Given the description of an element on the screen output the (x, y) to click on. 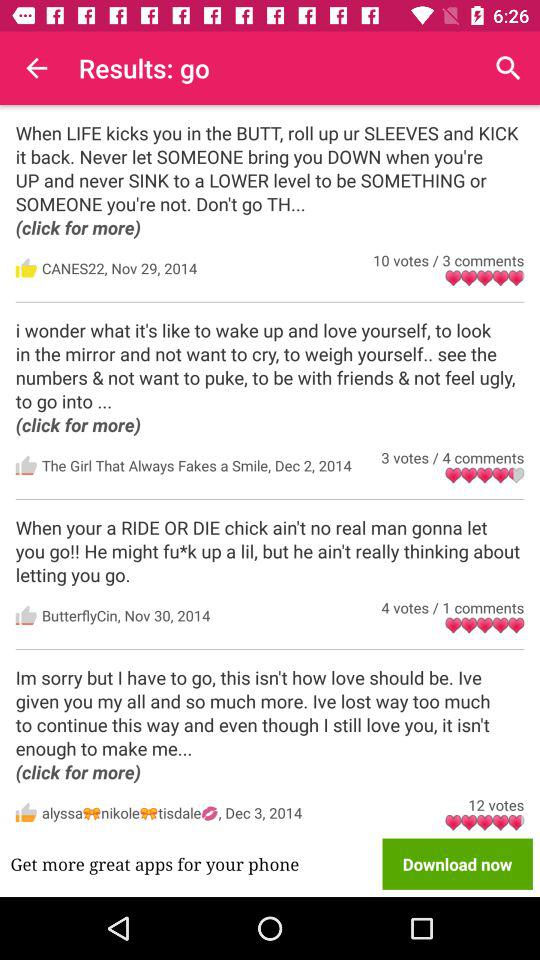
press the icon next to get more great item (457, 863)
